Given the description of an element on the screen output the (x, y) to click on. 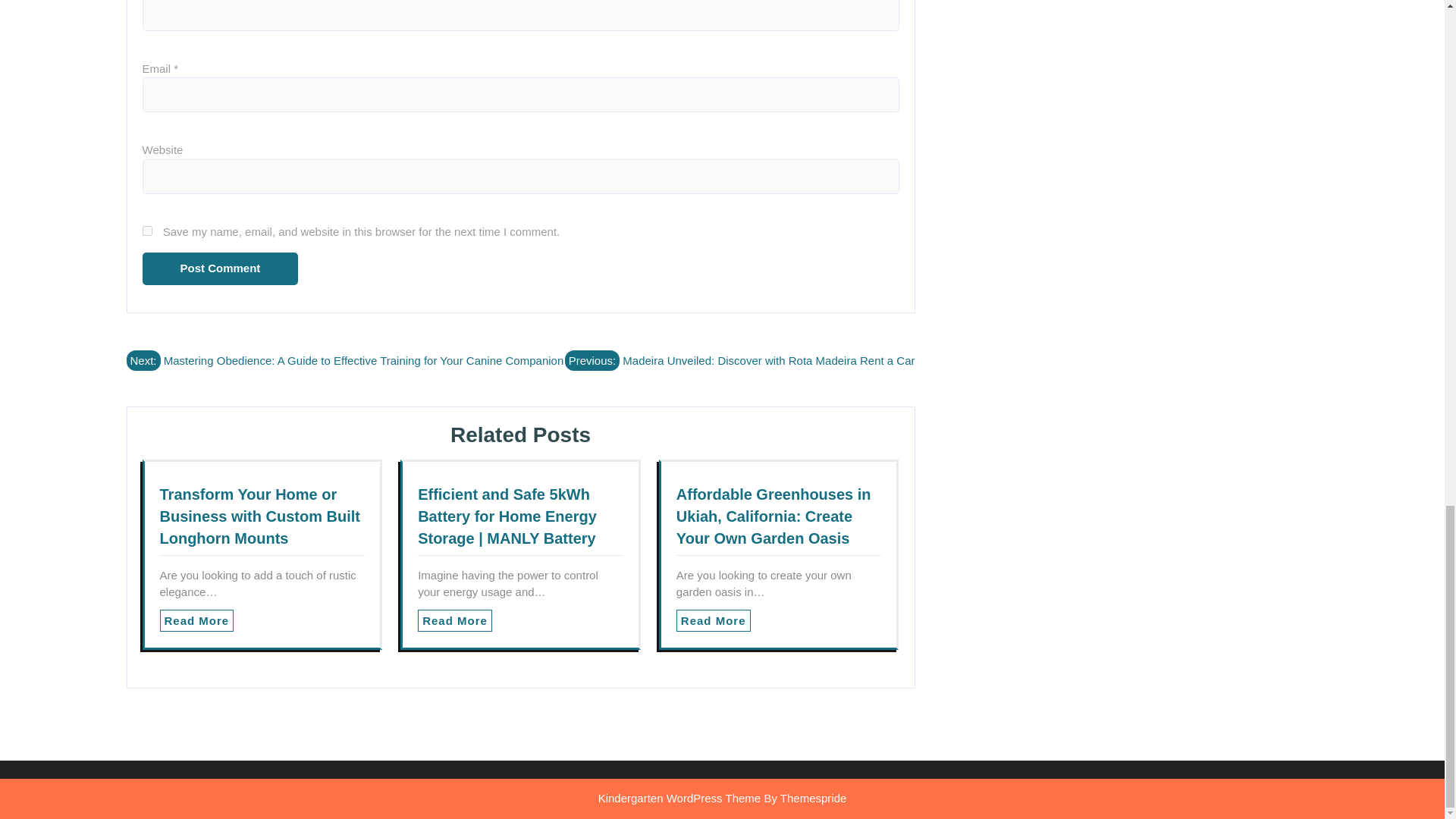
Read More (195, 620)
Read More (714, 620)
Read More (714, 620)
Read More (454, 620)
Read More (454, 620)
